Given the description of an element on the screen output the (x, y) to click on. 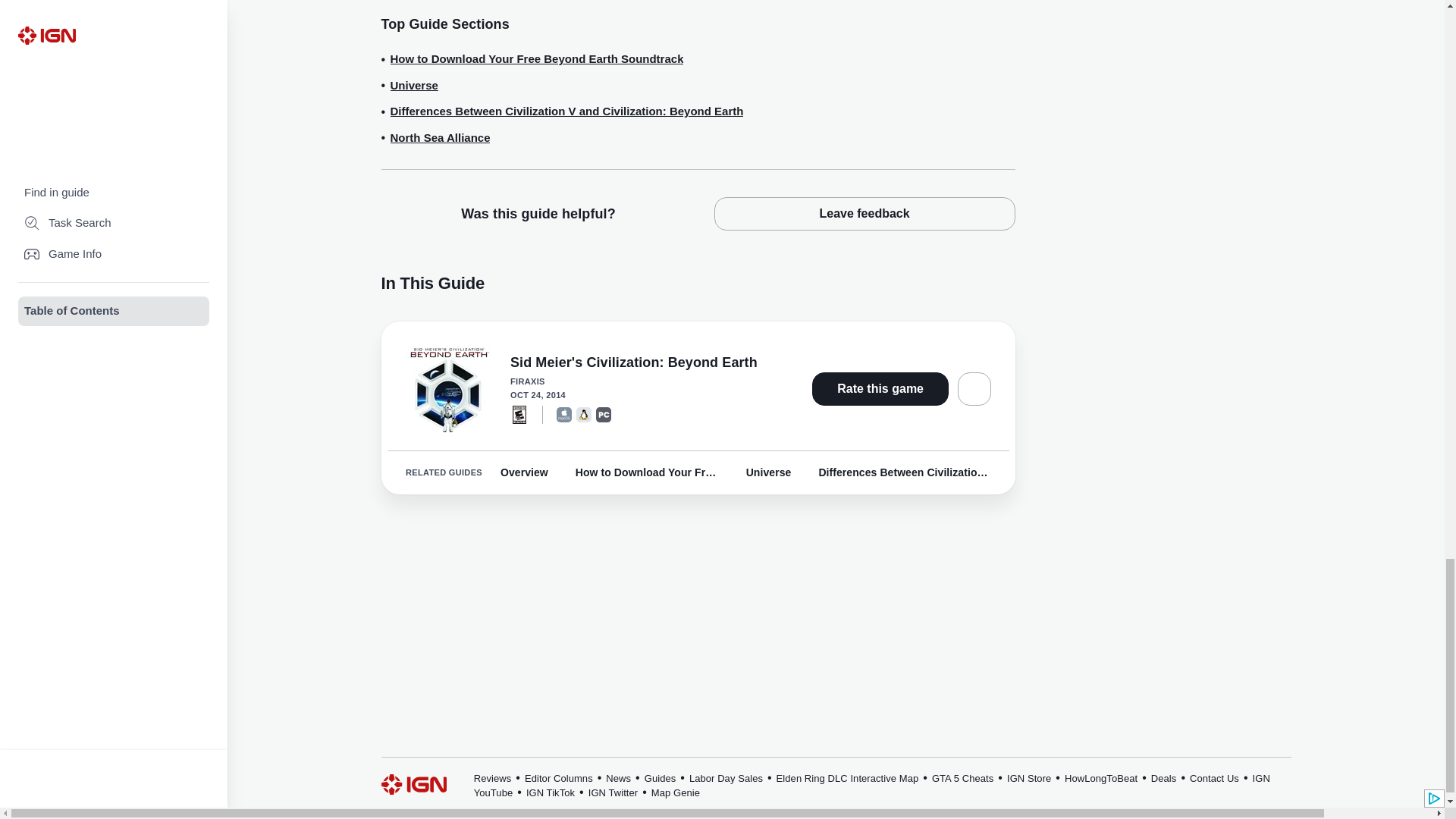
PC (603, 413)
Macintosh (564, 413)
Linux (583, 413)
